Given the description of an element on the screen output the (x, y) to click on. 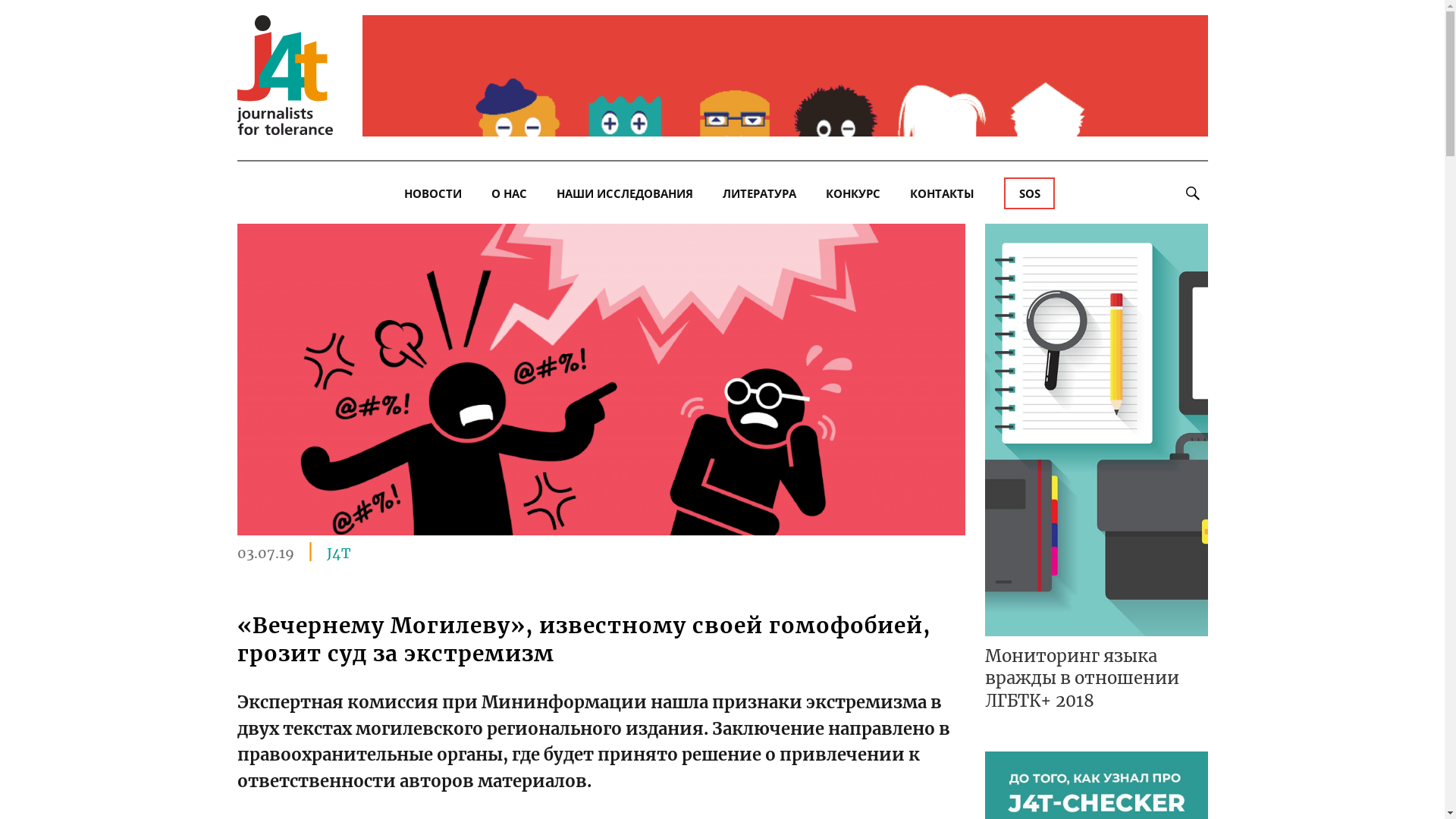
03.07.19 Element type: text (264, 550)
SOS Element type: text (1029, 193)
J4T Element type: text (337, 552)
